Given the description of an element on the screen output the (x, y) to click on. 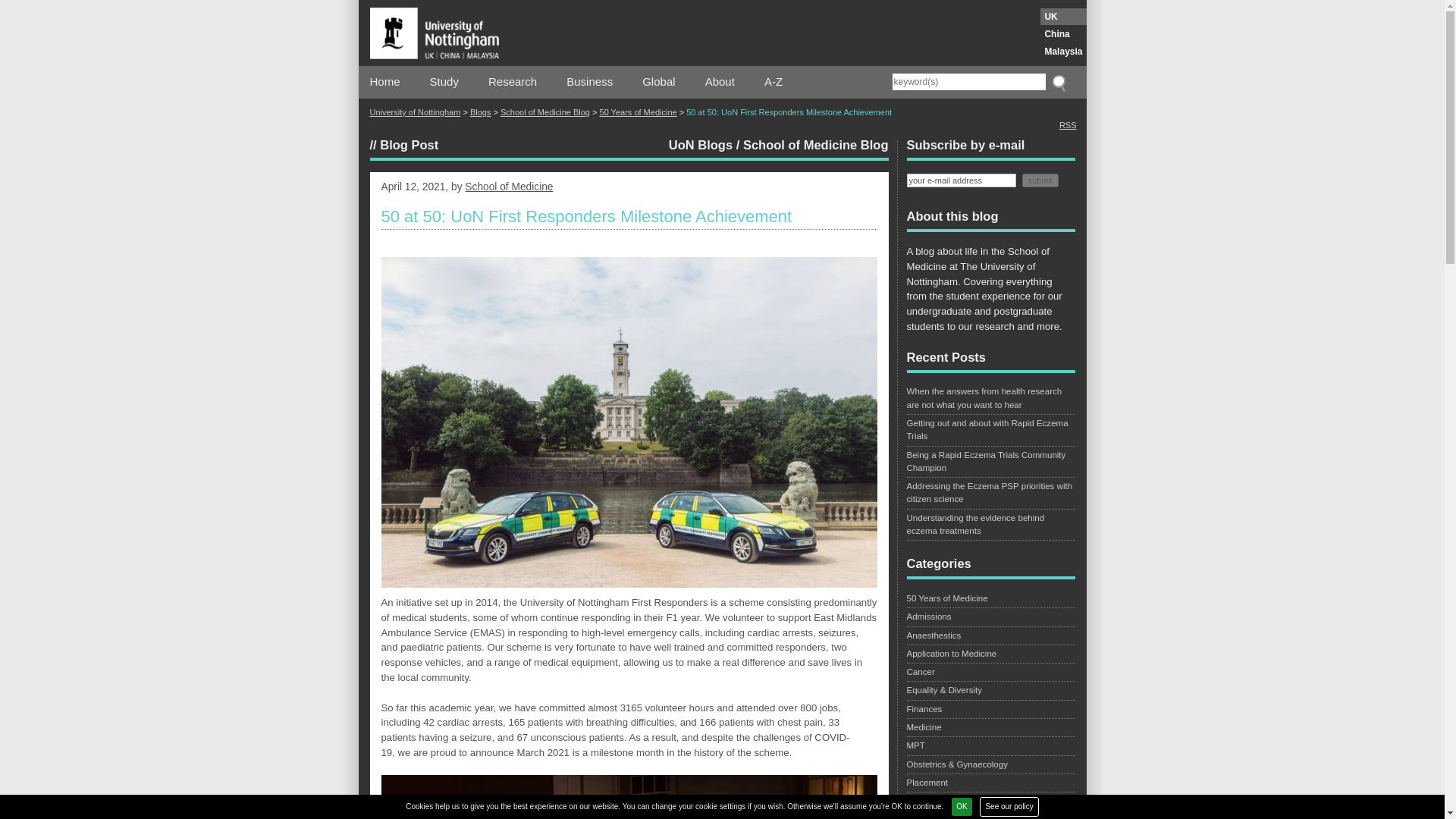
Research (512, 81)
Business (589, 81)
School of Medicine Blog (544, 112)
University of Nottingham (415, 112)
Malaysia (1063, 51)
About (719, 81)
OK (961, 806)
UoN Blogs (700, 144)
UK (1063, 16)
School of Medicine (508, 186)
Blogs (481, 112)
RSS (1068, 123)
A-Z (773, 81)
Home (384, 81)
submit (1040, 179)
